Given the description of an element on the screen output the (x, y) to click on. 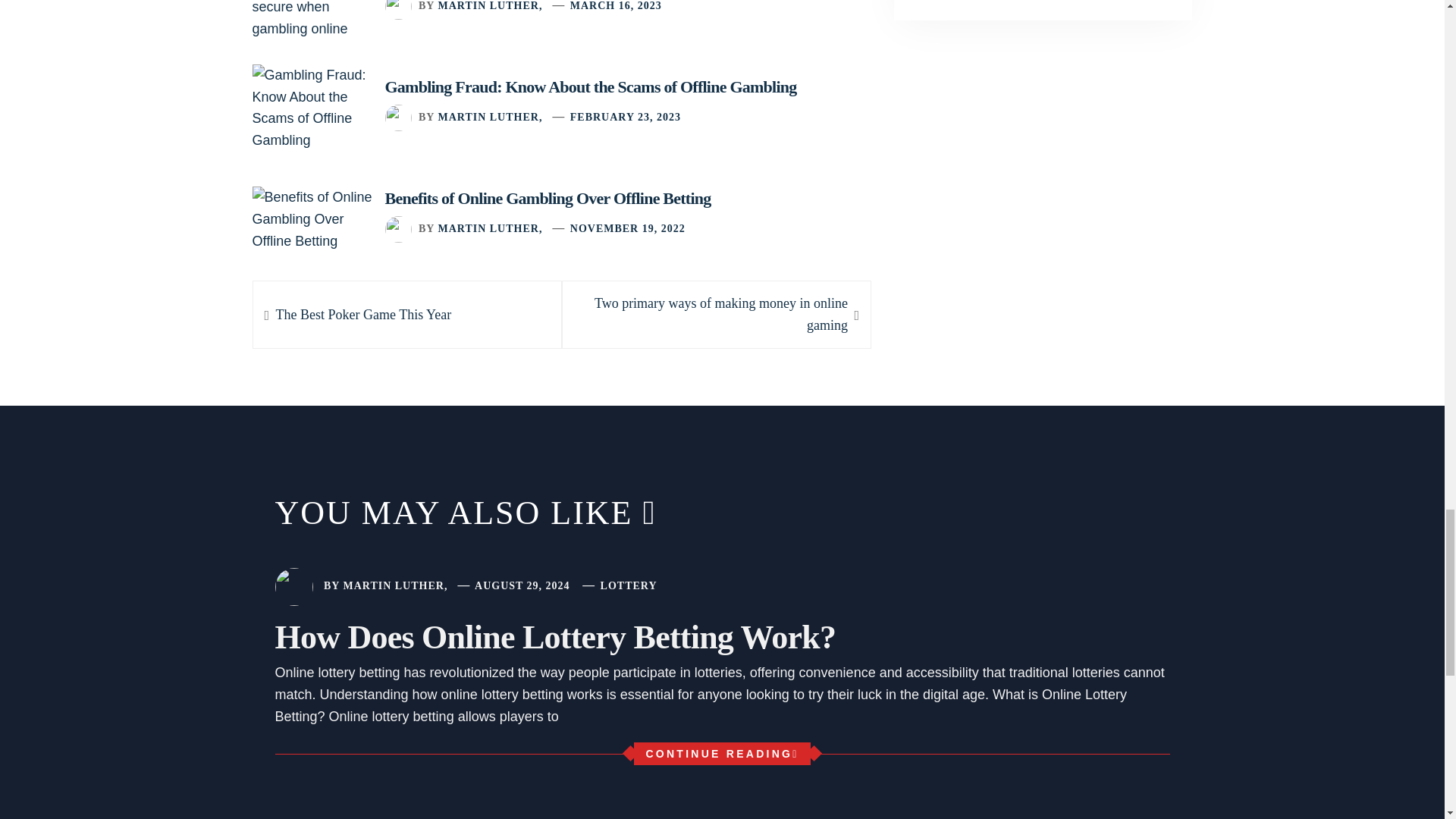
Gambling Fraud: Know About the Scams of Offline Gambling (590, 86)
MARTIN LUTHER, (489, 5)
NOVEMBER 19, 2022 (627, 228)
MARTIN LUTHER, (489, 228)
MARCH 16, 2023 (616, 5)
Benefits of Online Gambling Over Offline Betting (548, 198)
FEBRUARY 23, 2023 (716, 314)
MARTIN LUTHER, (363, 314)
